Given the description of an element on the screen output the (x, y) to click on. 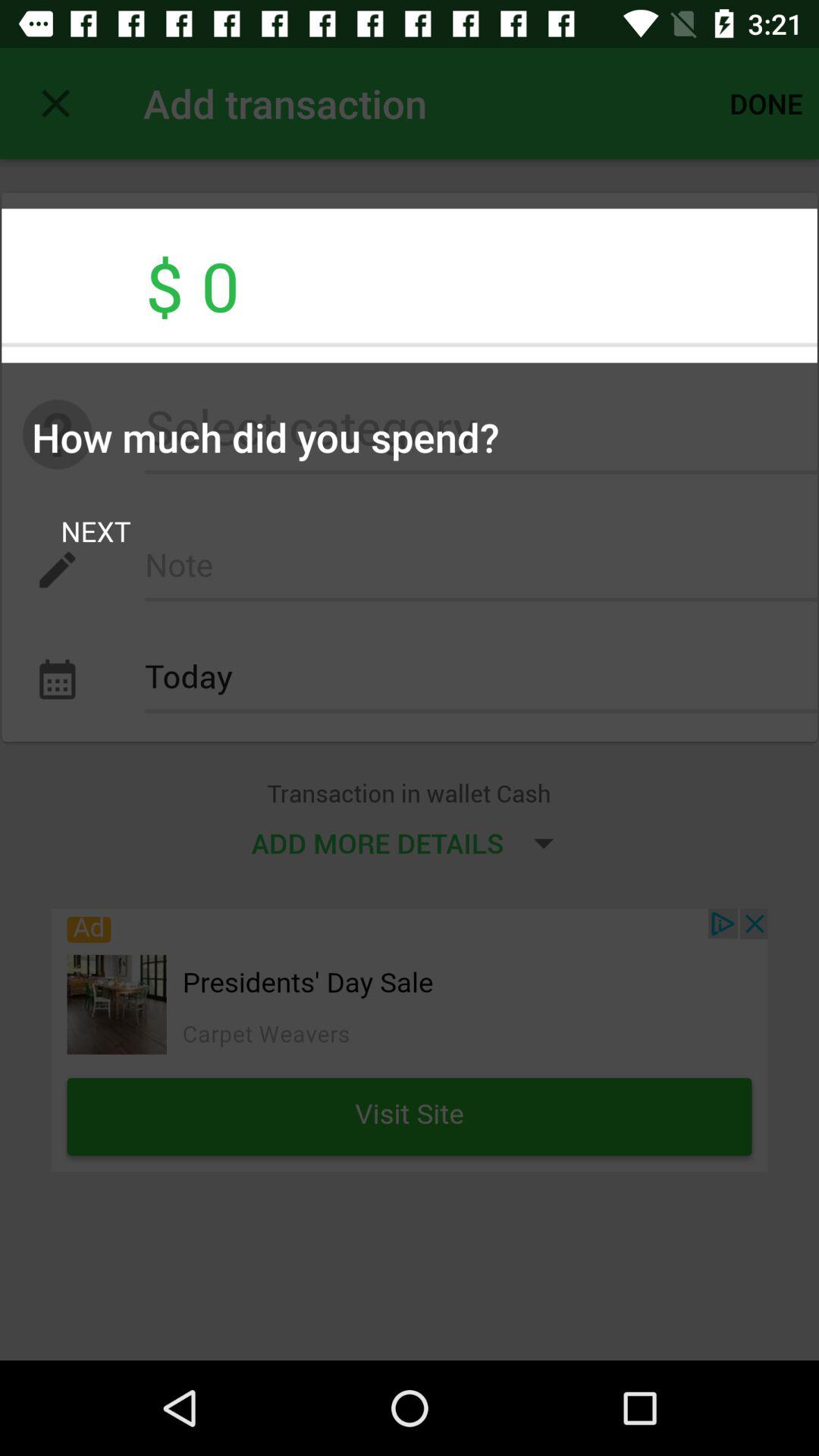
click item next to add transaction (55, 103)
